Given the description of an element on the screen output the (x, y) to click on. 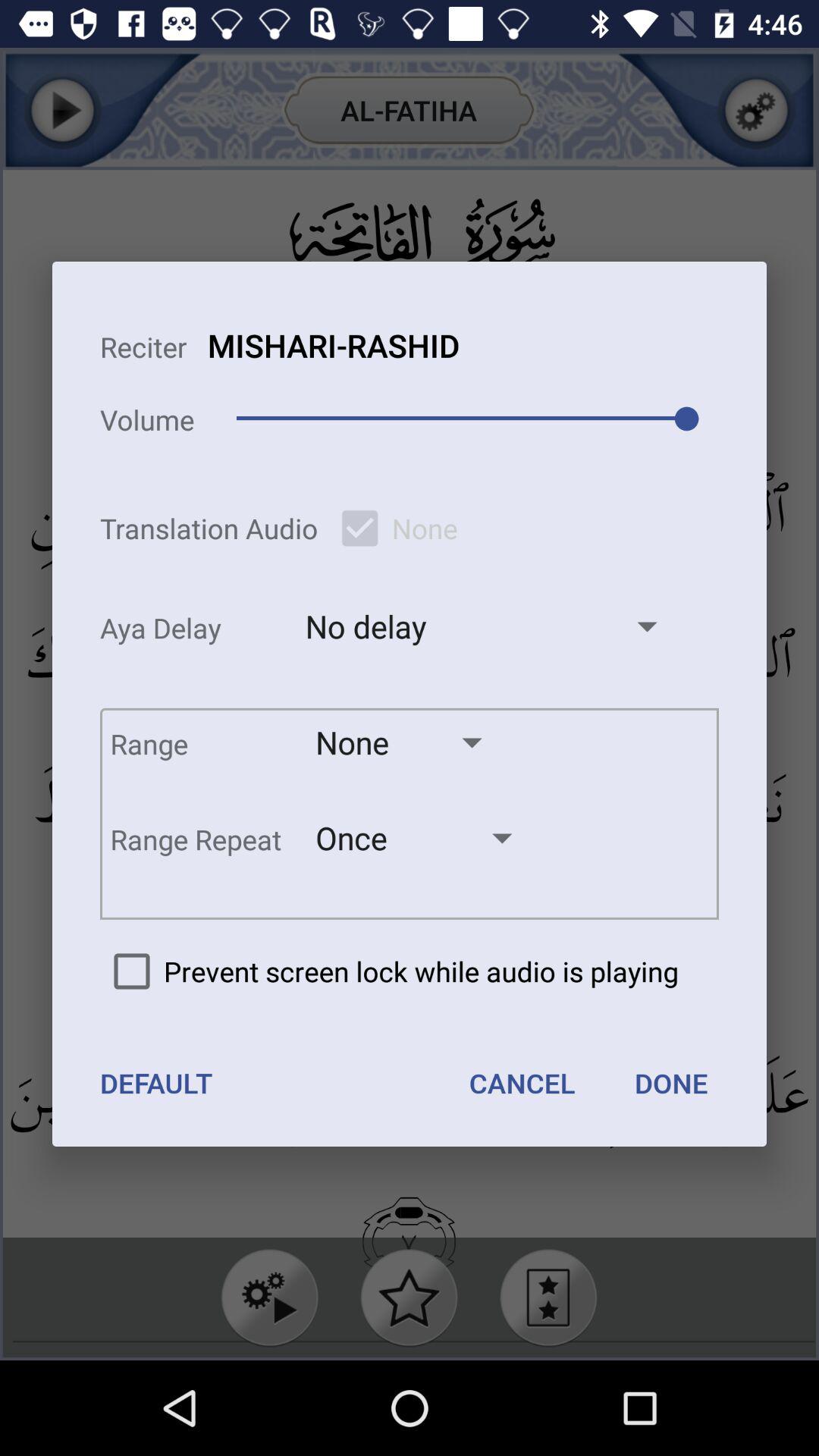
open the item to the right of volume (333, 345)
